Given the description of an element on the screen output the (x, y) to click on. 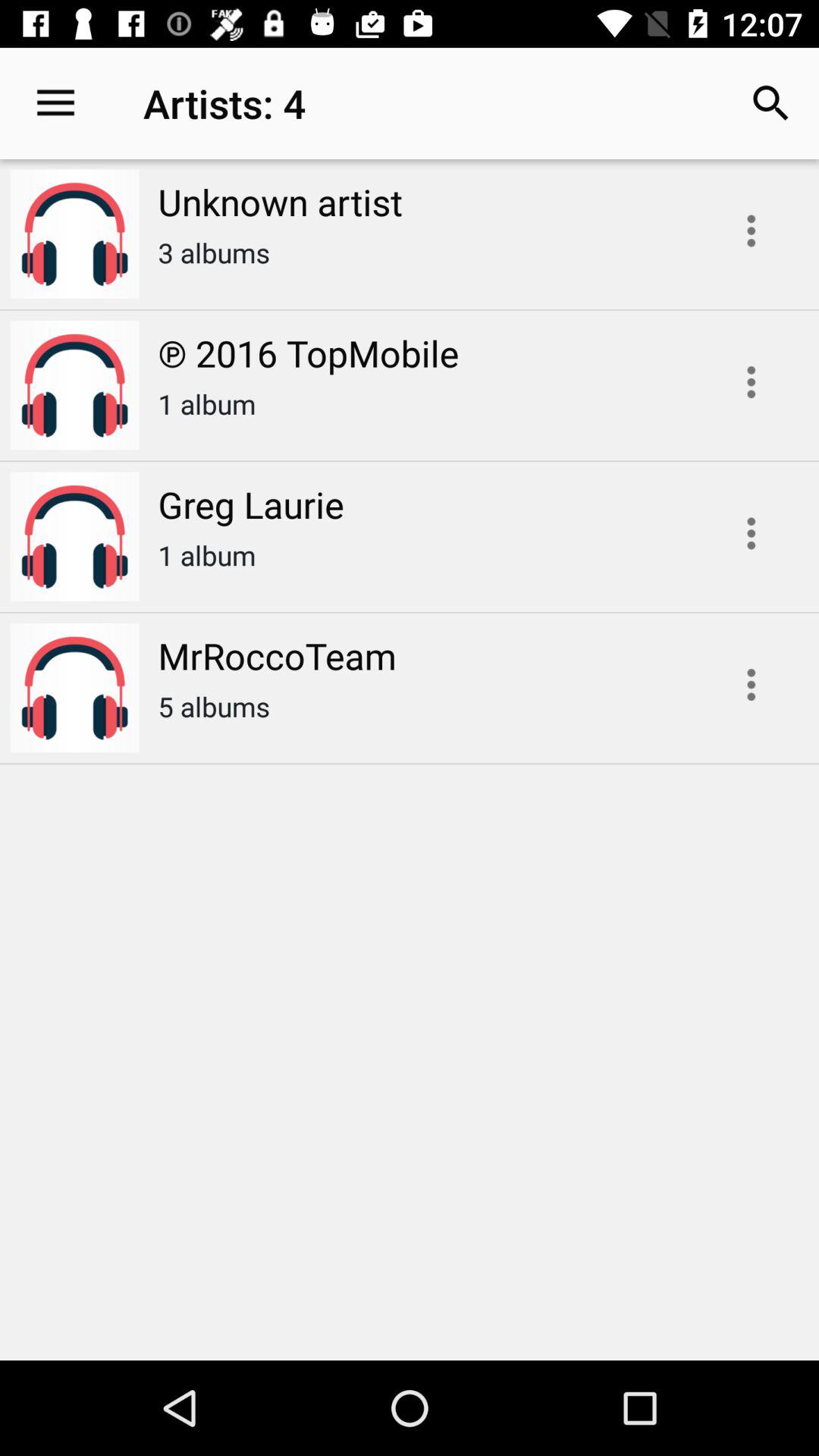
open the icon to the right of artists: 4 item (771, 103)
